Given the description of an element on the screen output the (x, y) to click on. 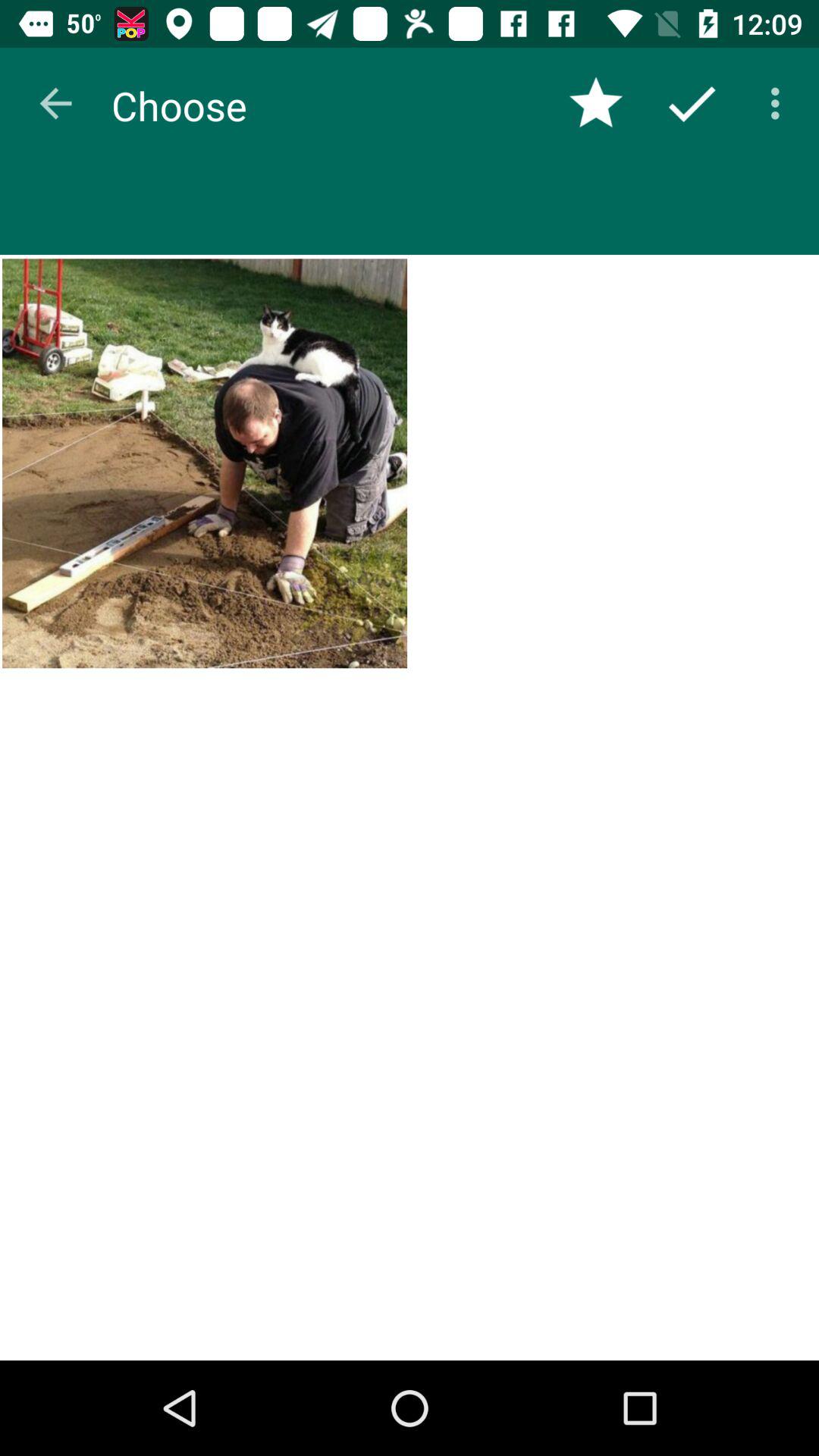
press icon to the right of choose (595, 103)
